Given the description of an element on the screen output the (x, y) to click on. 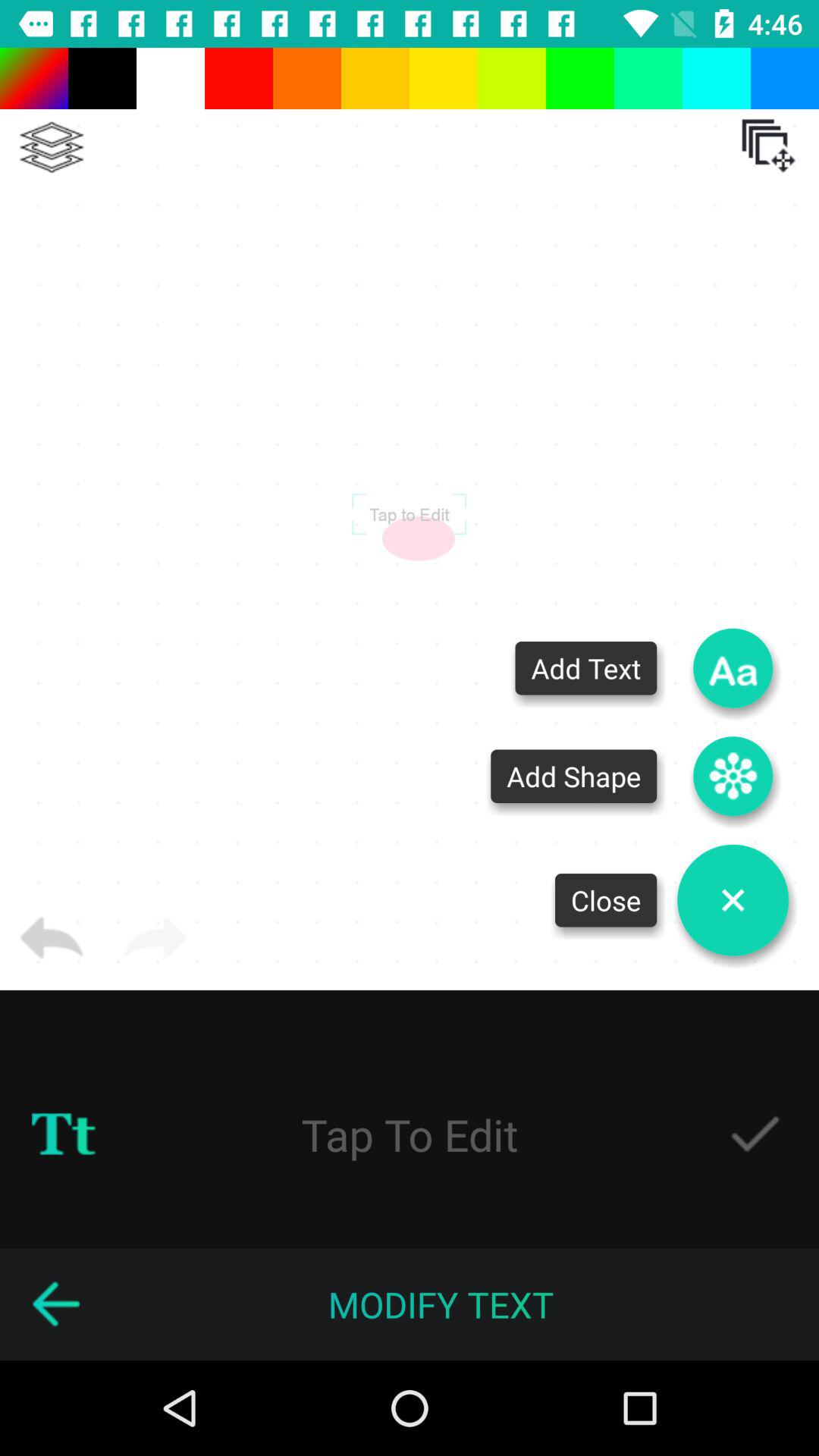
text style (63, 1134)
